Given the description of an element on the screen output the (x, y) to click on. 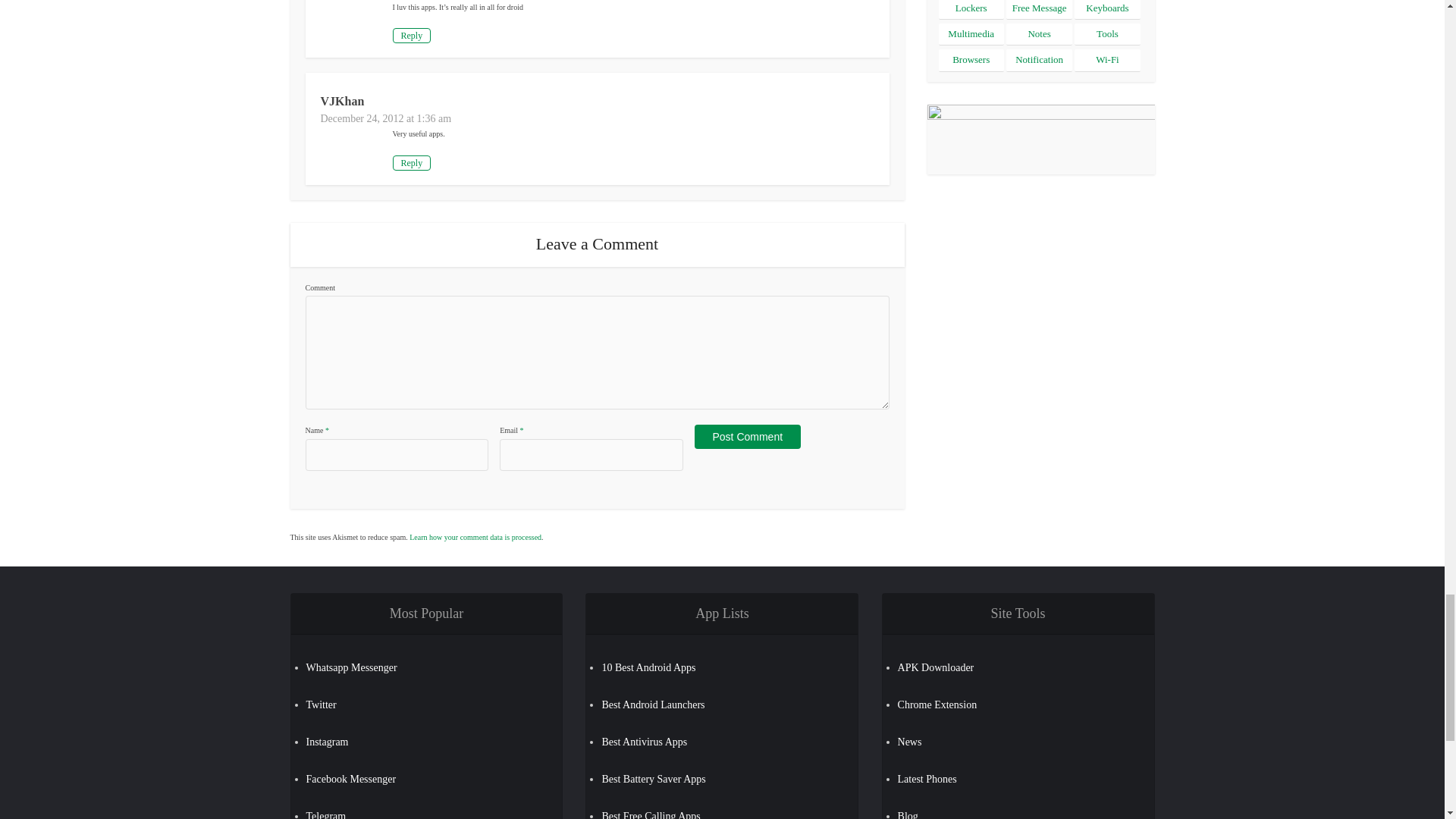
December 24, 2012 at 1:36 am (385, 118)
Reply (411, 162)
Post Comment (747, 436)
Reply (411, 35)
